Given the description of an element on the screen output the (x, y) to click on. 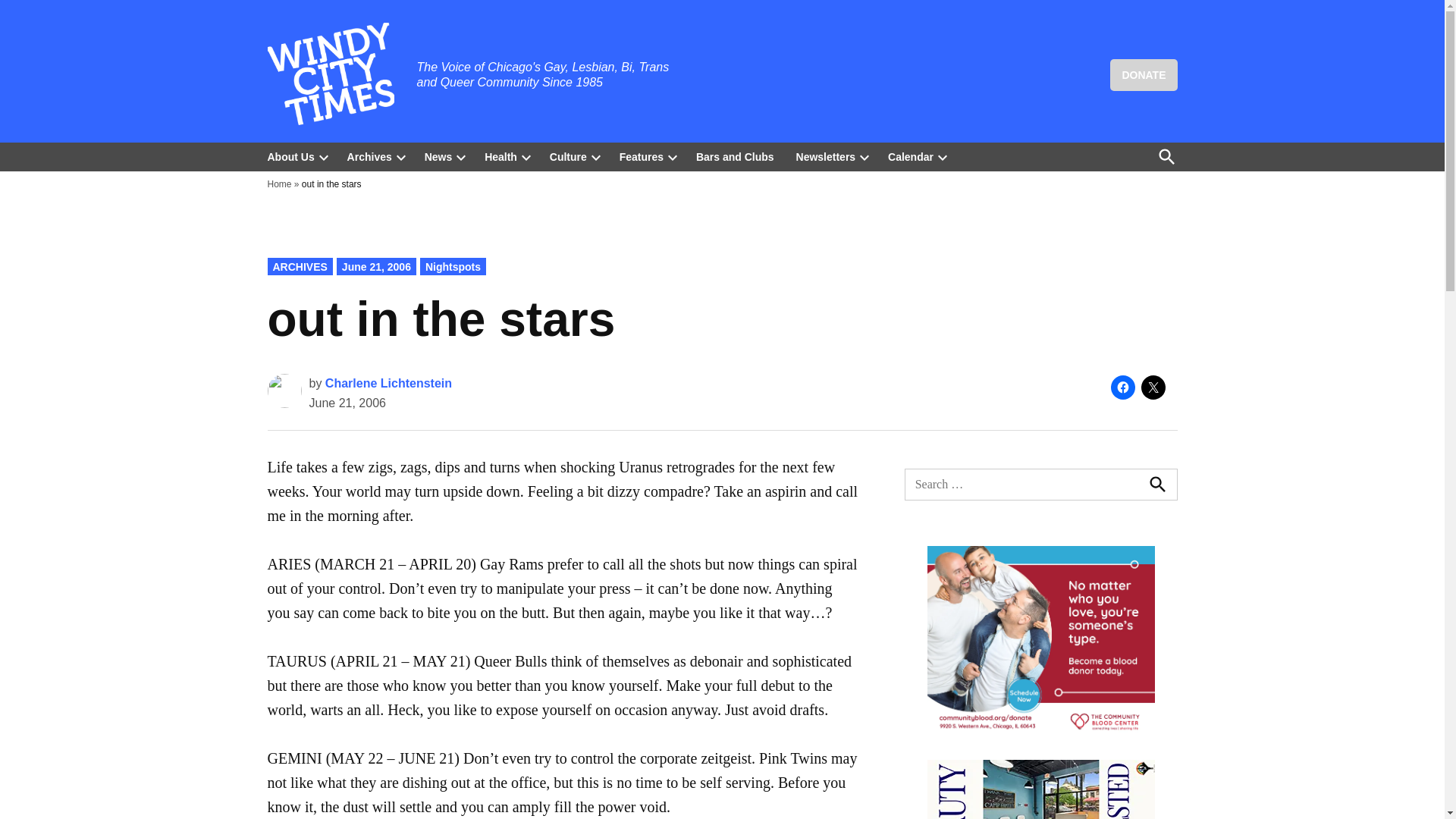
Click to share on X (1152, 387)
Click to share on Facebook (1121, 387)
